Given the description of an element on the screen output the (x, y) to click on. 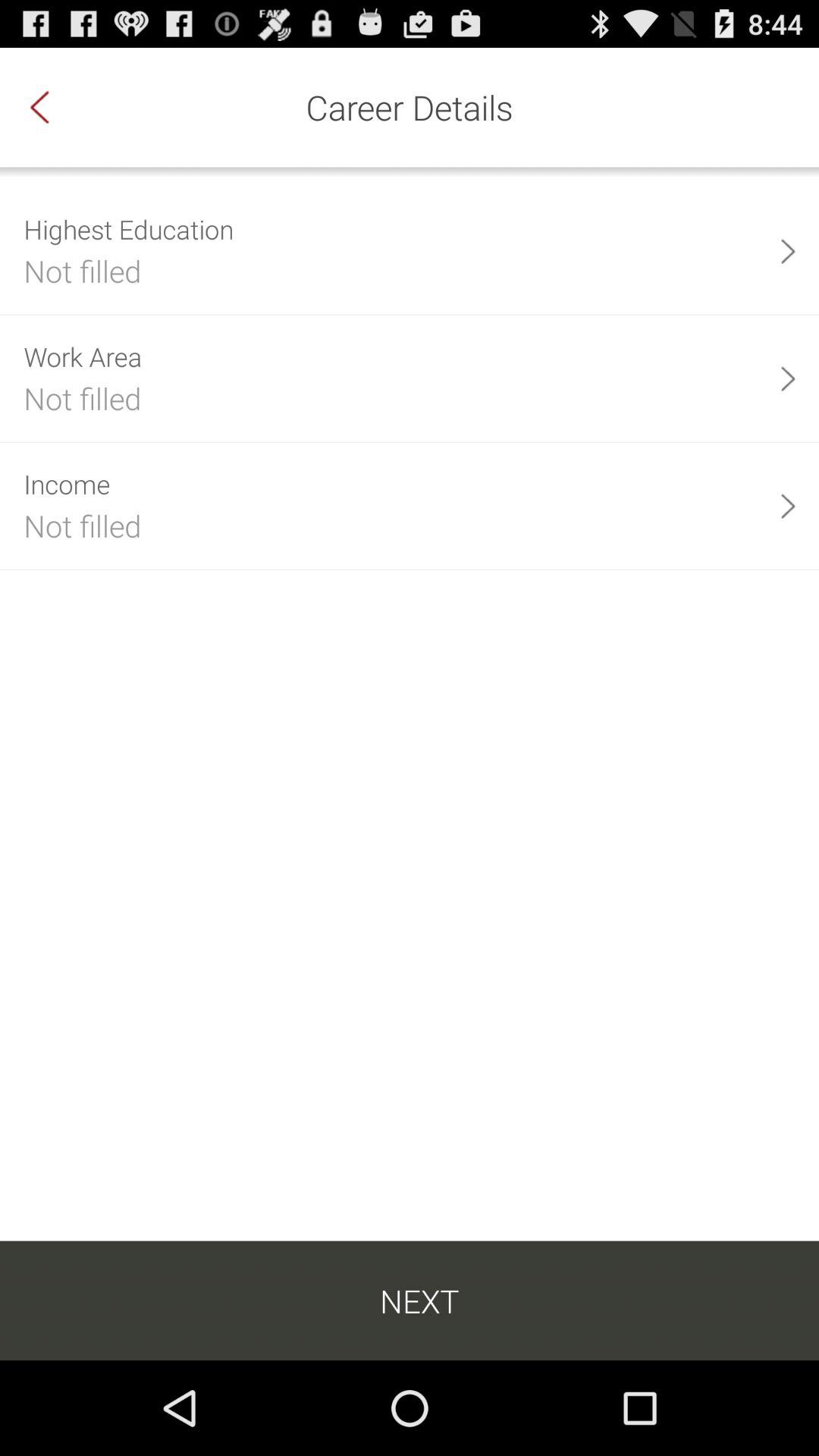
click the app next to career details item (55, 107)
